Given the description of an element on the screen output the (x, y) to click on. 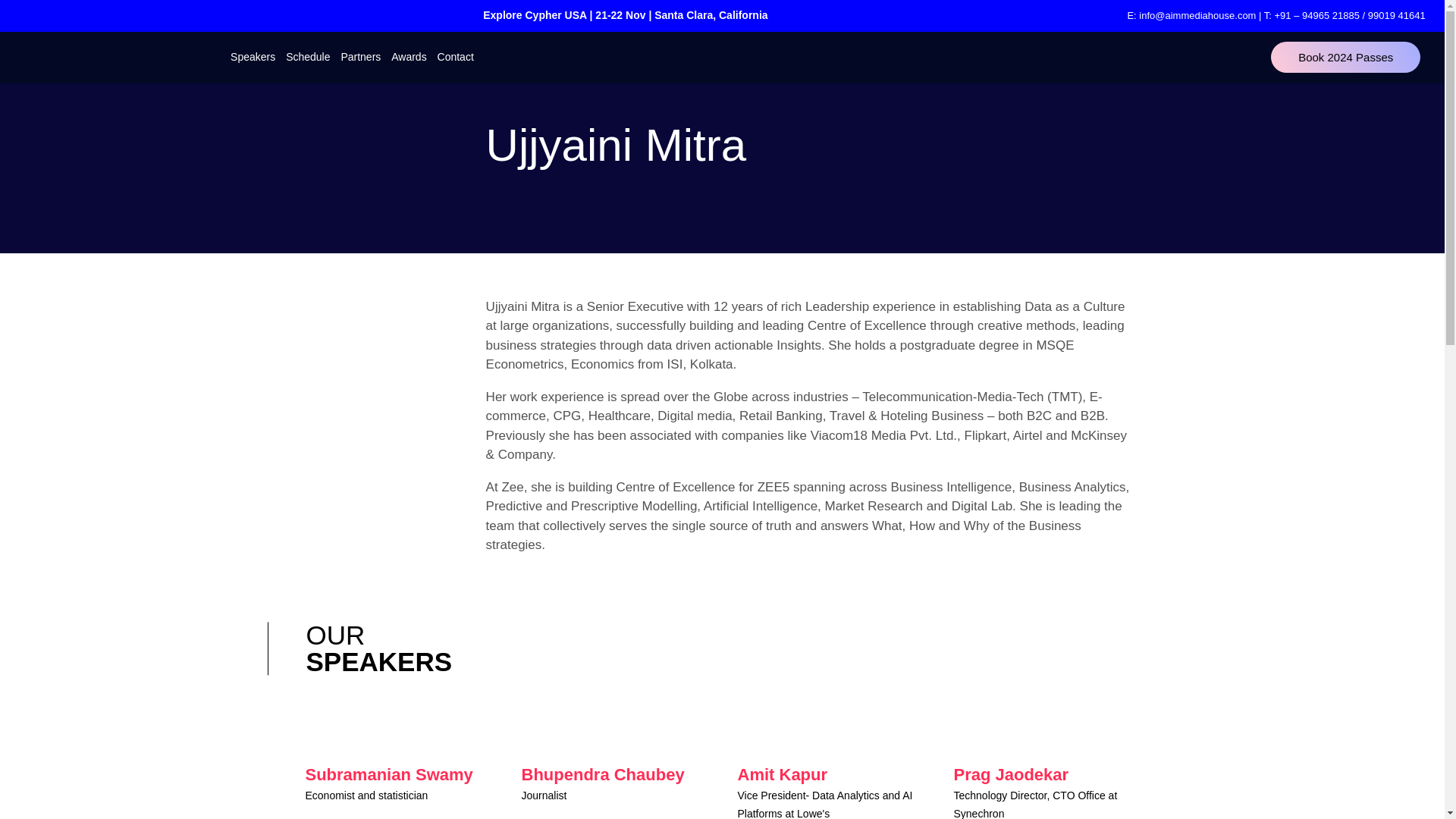
Awards (408, 57)
Partners (360, 57)
Contact (455, 57)
Book 2024 Passes (1346, 56)
Schedule (307, 57)
Speakers (253, 57)
